Given the description of an element on the screen output the (x, y) to click on. 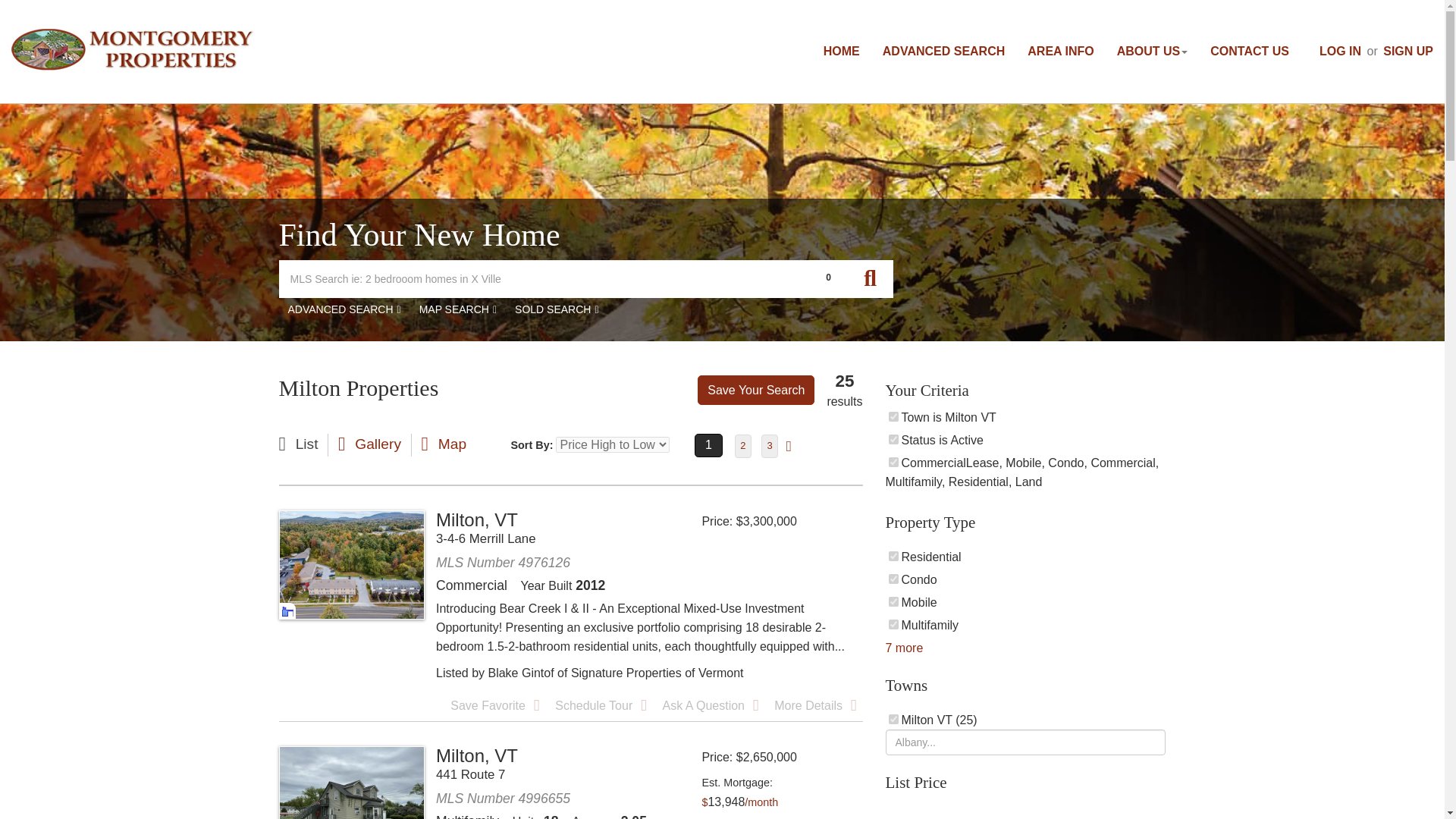
Schedule Tour (600, 705)
on (893, 439)
Gallery (369, 444)
MAP SEARCH (457, 310)
Milton VT (893, 718)
SOLD SEARCH (556, 310)
ADVANCED SEARCH (344, 310)
on (893, 461)
mfr (893, 624)
click to adjust (739, 802)
AREA INFO (1060, 51)
Milton VT (893, 416)
More Details (814, 705)
CONTACT US (1243, 51)
Ask A Question (710, 705)
